Given the description of an element on the screen output the (x, y) to click on. 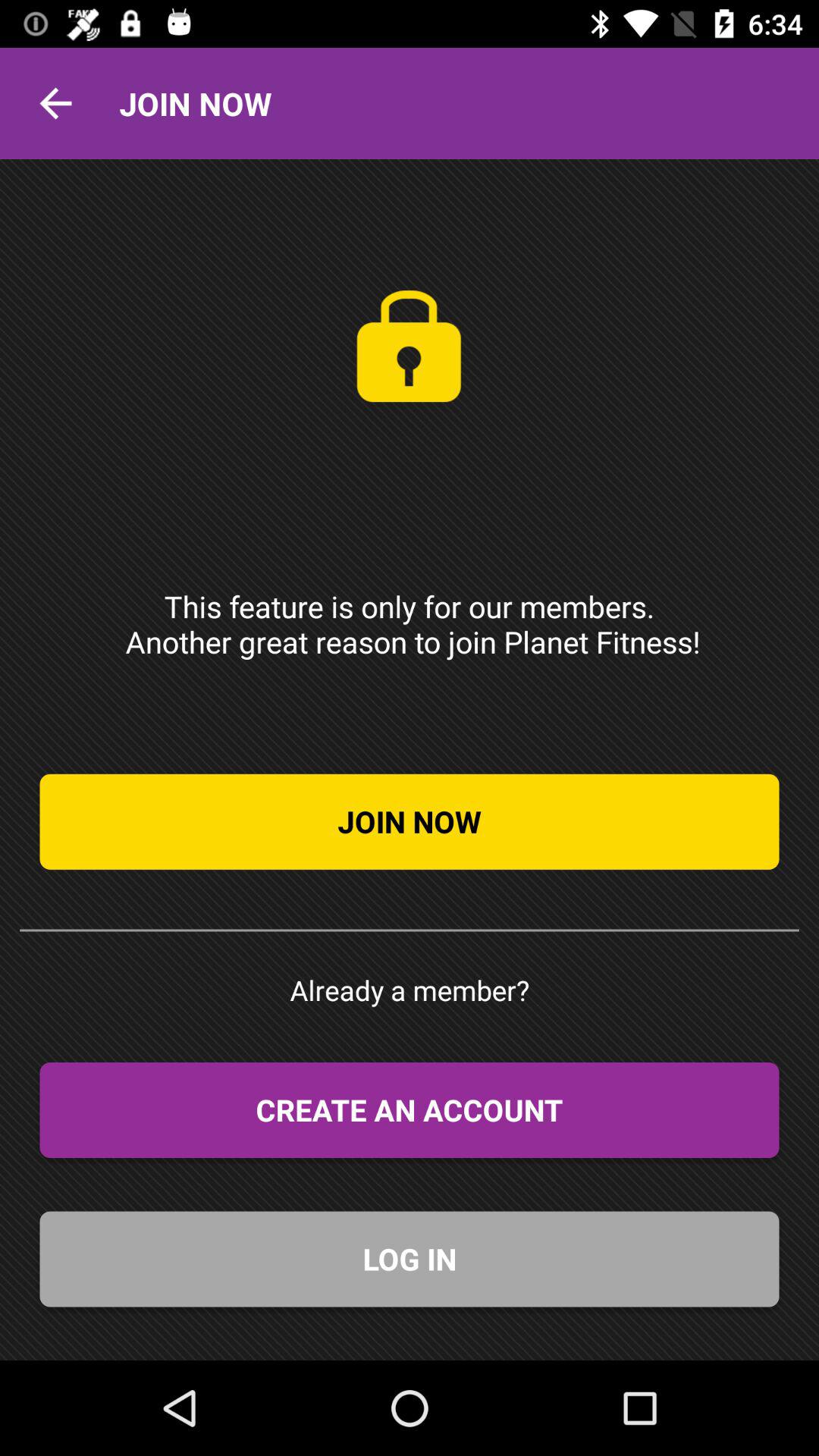
tap the log in (409, 1258)
